Given the description of an element on the screen output the (x, y) to click on. 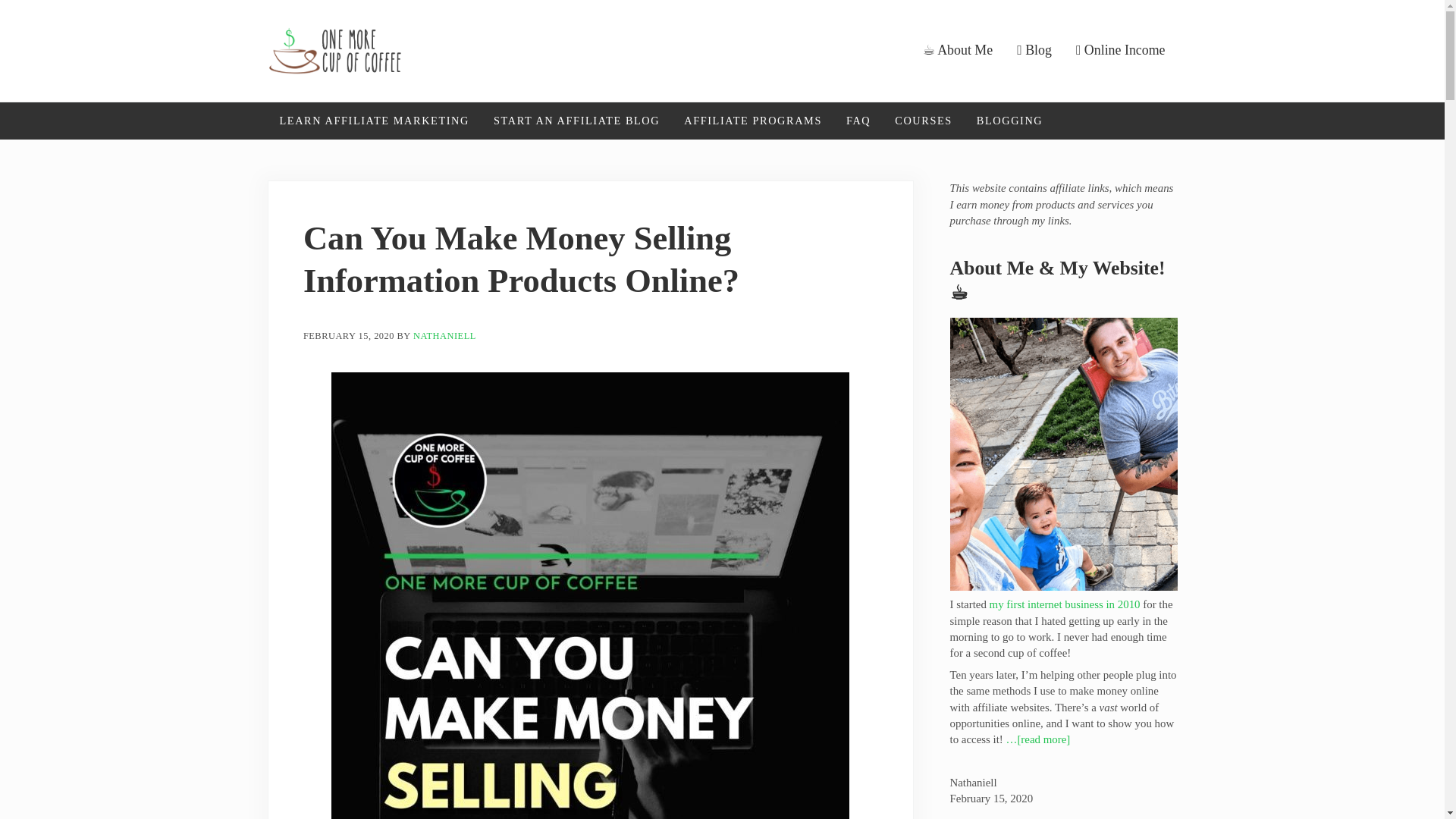
One More Cup of Coffee Logo NEW (334, 50)
LEARN AFFILIATE MARKETING (373, 120)
BLOGGING (1008, 120)
START AN AFFILIATE BLOG (576, 120)
NATHANIELL (444, 336)
FAQ (858, 120)
COURSES (922, 120)
AFFILIATE PROGRAMS (752, 120)
